Given the description of an element on the screen output the (x, y) to click on. 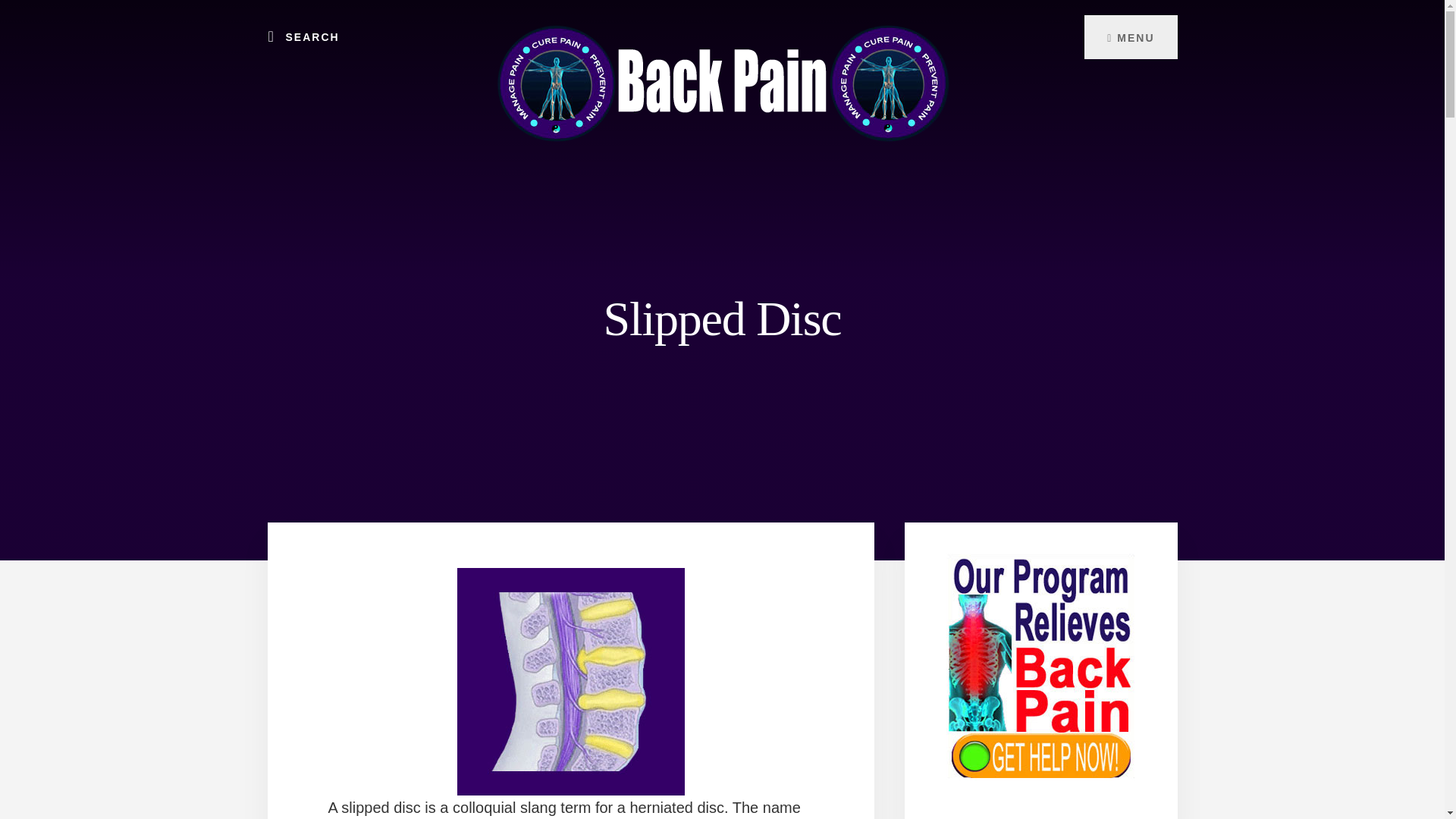
MENU (1130, 36)
